Given the description of an element on the screen output the (x, y) to click on. 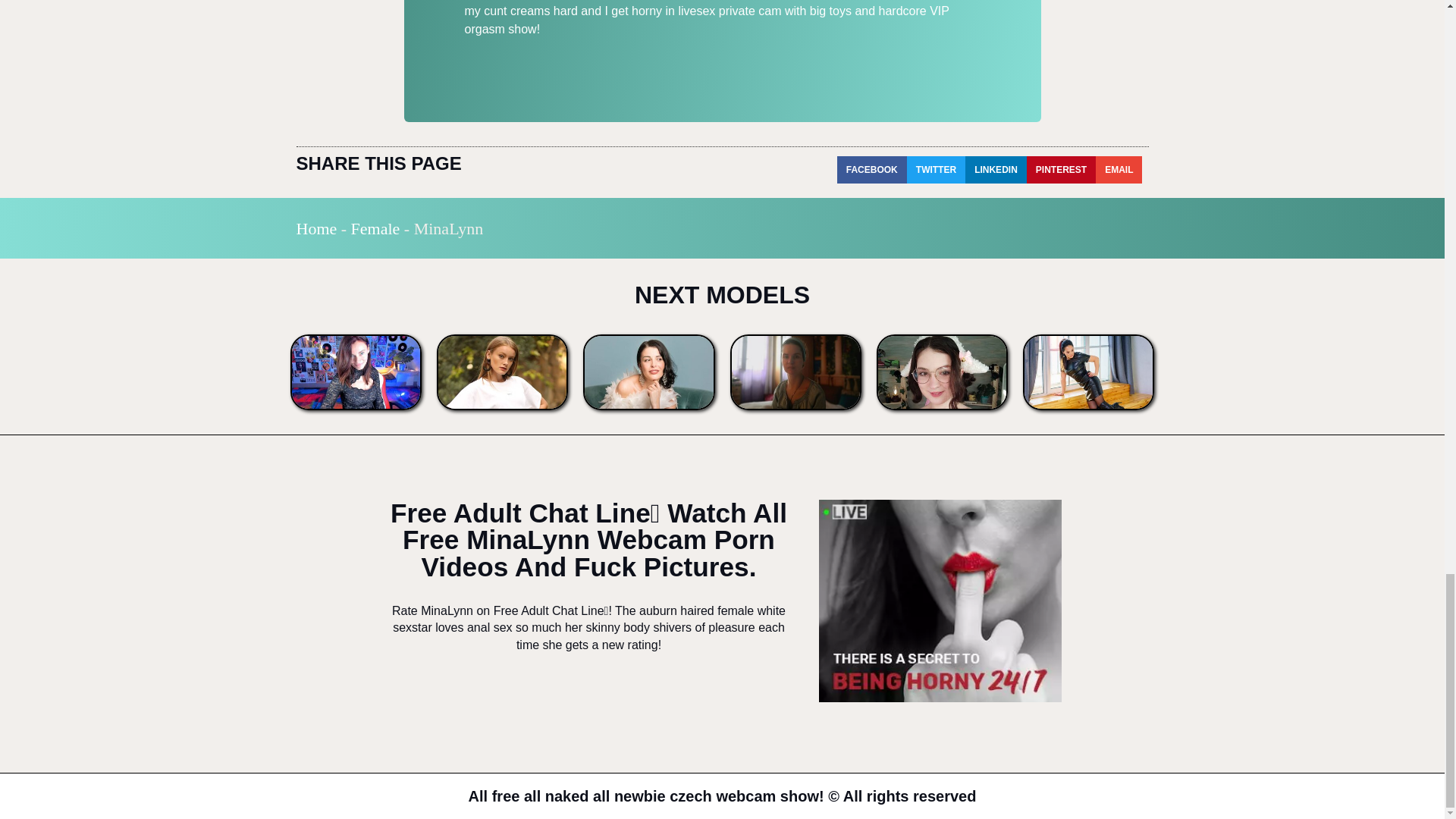
Female (375, 228)
Home (315, 228)
